Given the description of an element on the screen output the (x, y) to click on. 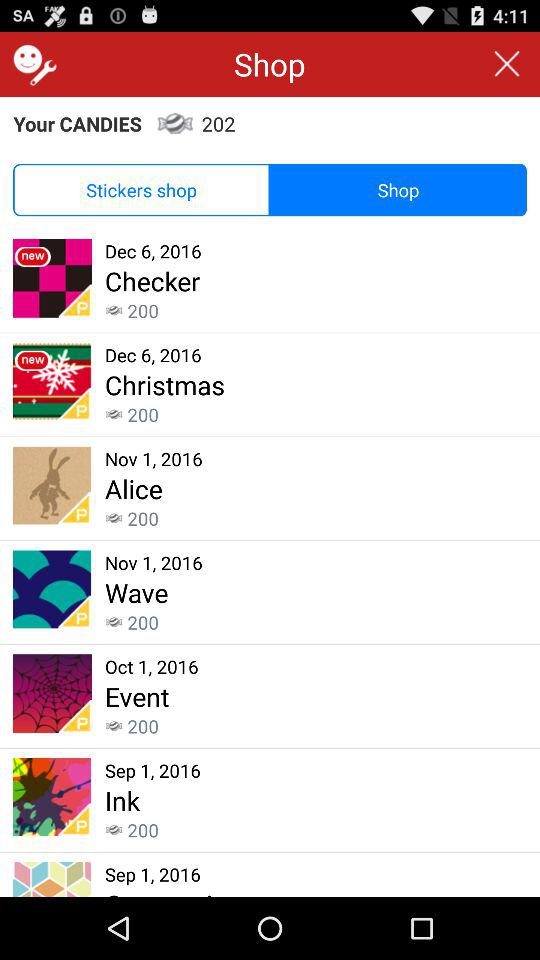
press the wave (136, 592)
